Given the description of an element on the screen output the (x, y) to click on. 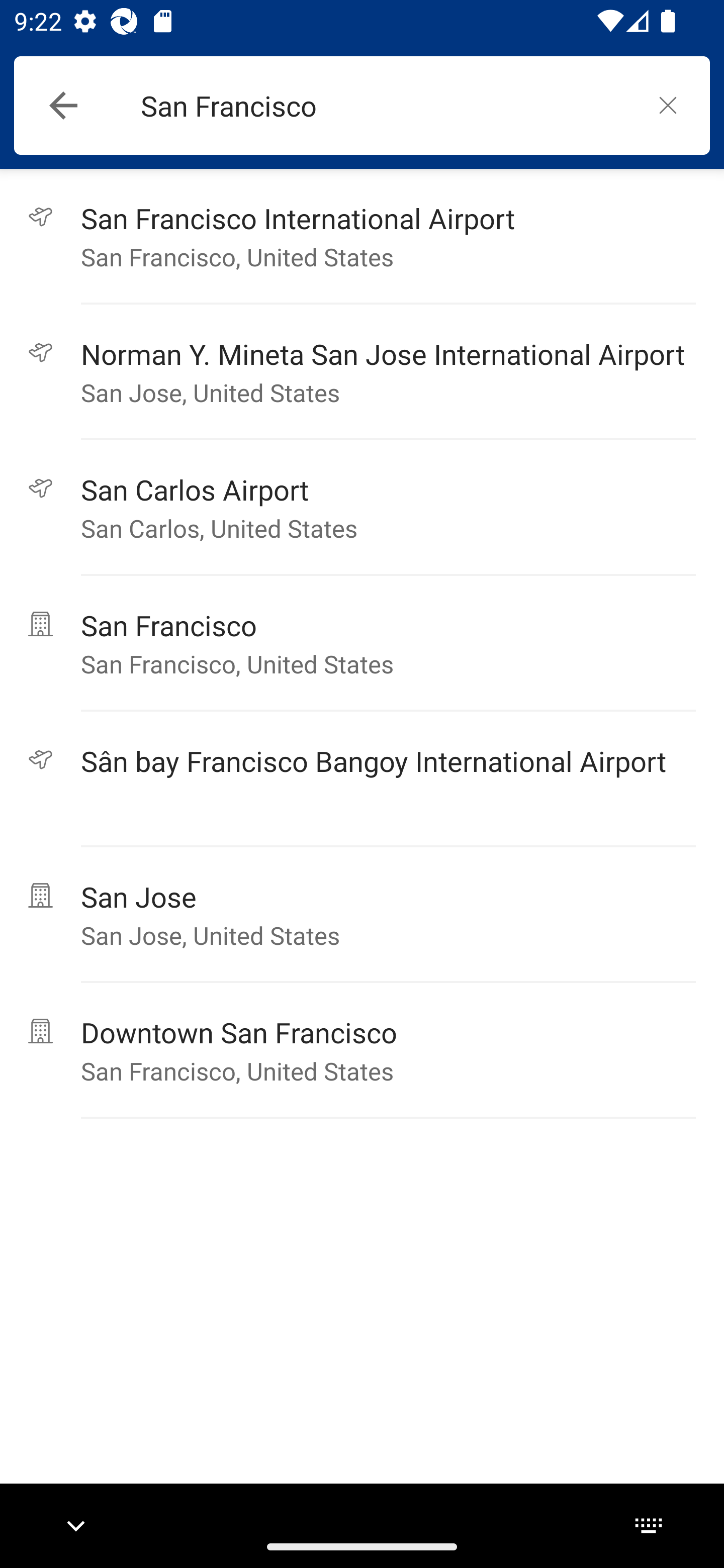
Navigate up (62, 105)
놕 (667, 104)
San Francisco (382, 105)
끭 San Carlos Airport San Carlos, United States (362, 507)
넭 San Francisco San Francisco, United States (362, 643)
끭 Sân bay Francisco Bangoy International Airport (362, 778)
넭 San Jose San Jose, United States (362, 914)
